Given the description of an element on the screen output the (x, y) to click on. 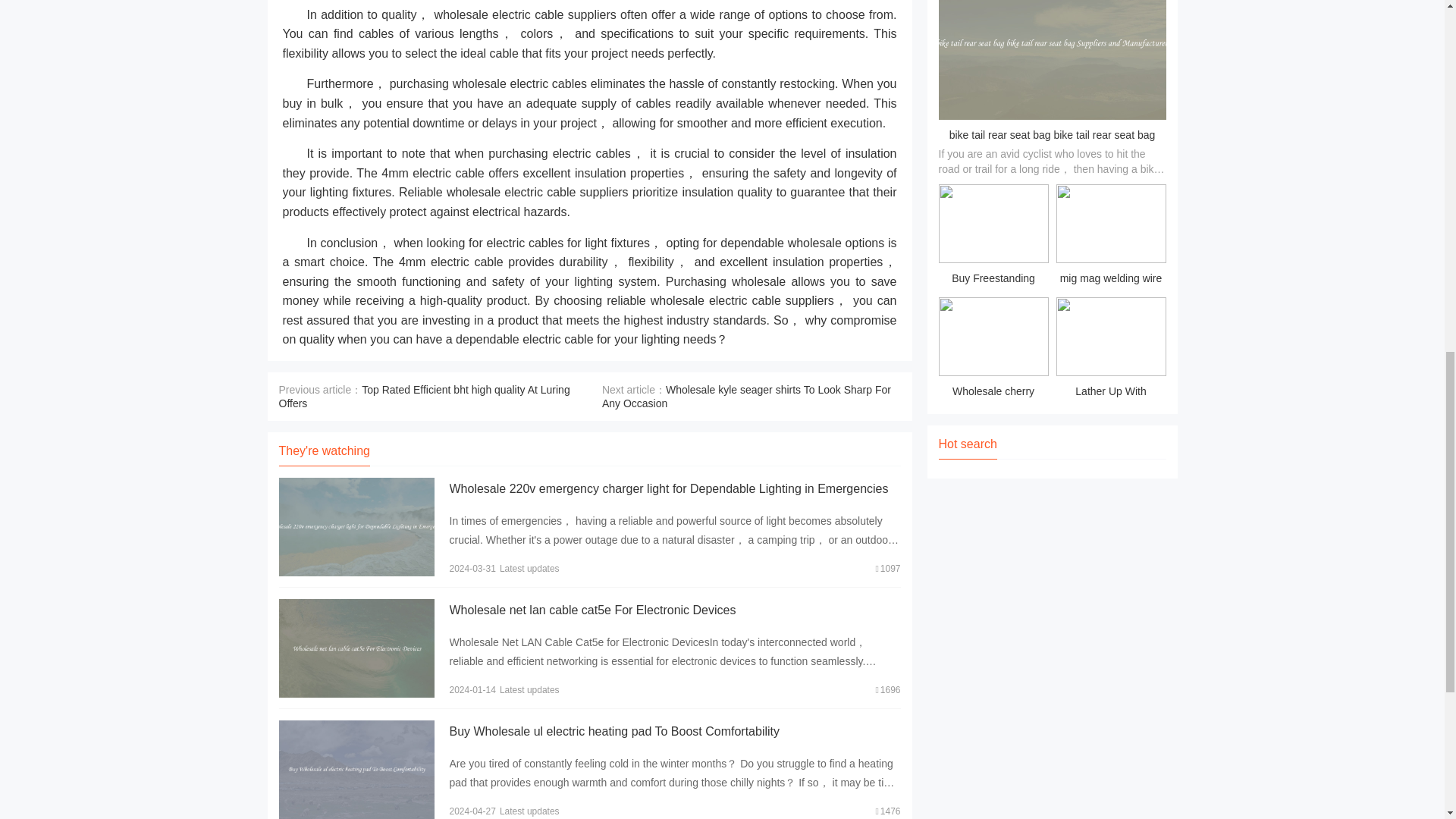
Lather Up With Popular Wholesale wind washing (1110, 349)
Top Rated Efficient bht high quality At Luring Offers (424, 396)
Buy Freestanding double side pop screen with Custom Designs (993, 236)
Wholesale net lan cable cat5e For Electronic Devices (591, 609)
Wholesale kyle seager shirts To Look Sharp For Any Occasion (746, 396)
